Given the description of an element on the screen output the (x, y) to click on. 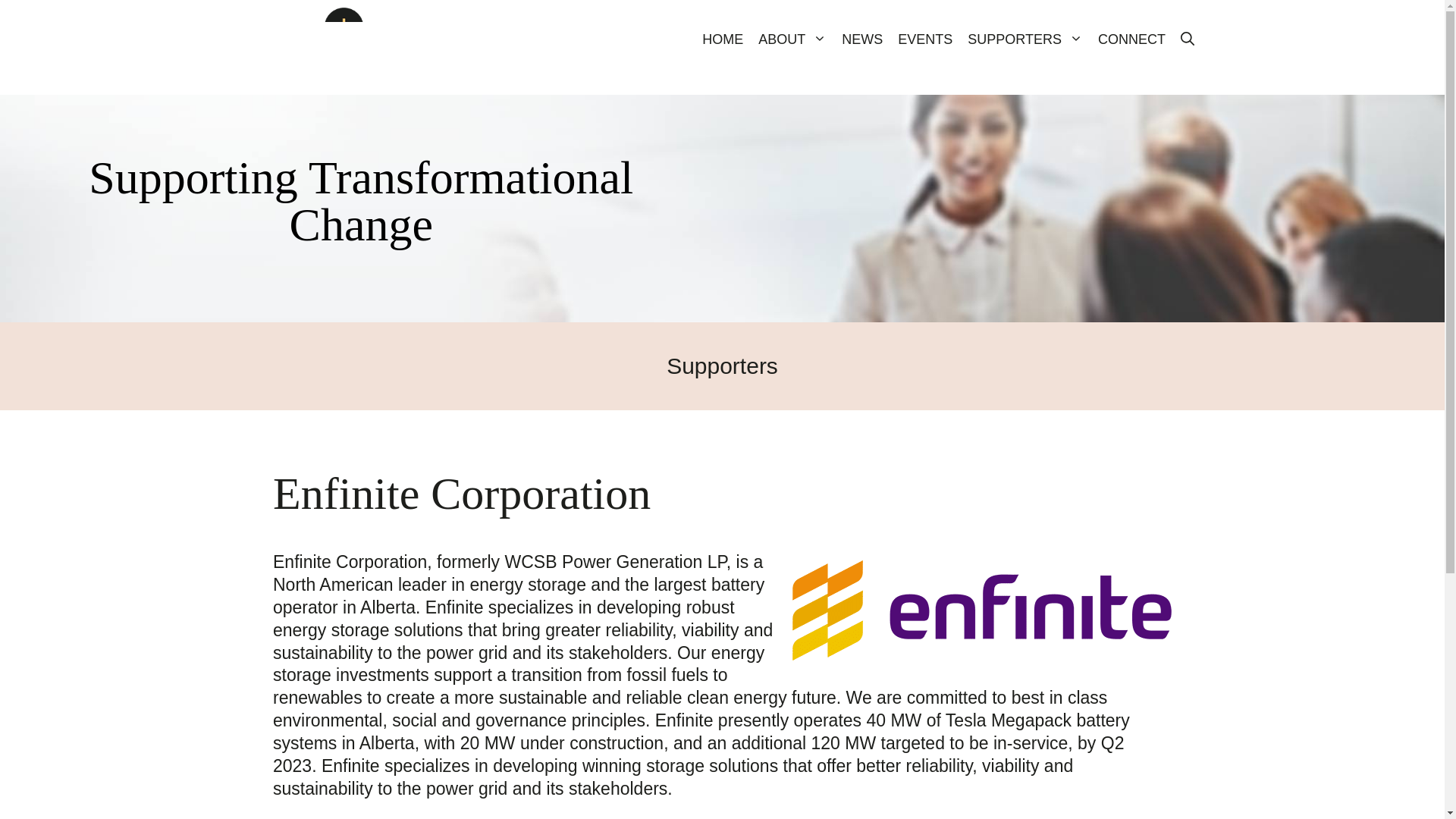
ABOUT (792, 39)
CONNECT (1131, 39)
SUPPORTERS (1024, 39)
